Given the description of an element on the screen output the (x, y) to click on. 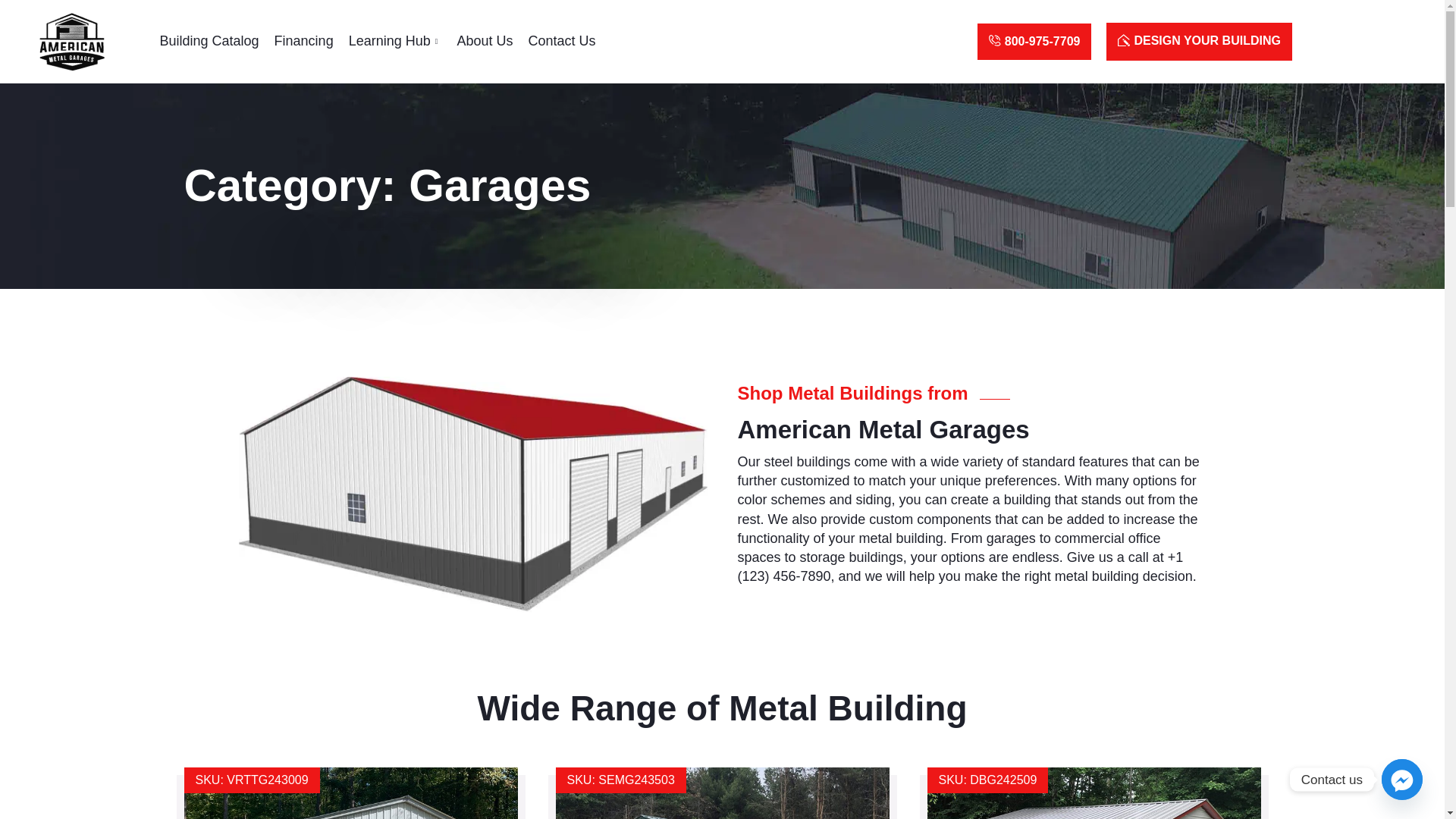
Contact Us (560, 41)
Learning Hub (394, 41)
Building Catalog (208, 41)
Financing (303, 41)
About Us (483, 41)
800-975-7709 (1034, 41)
DESIGN YOUR BUILDING (1199, 41)
